Given the description of an element on the screen output the (x, y) to click on. 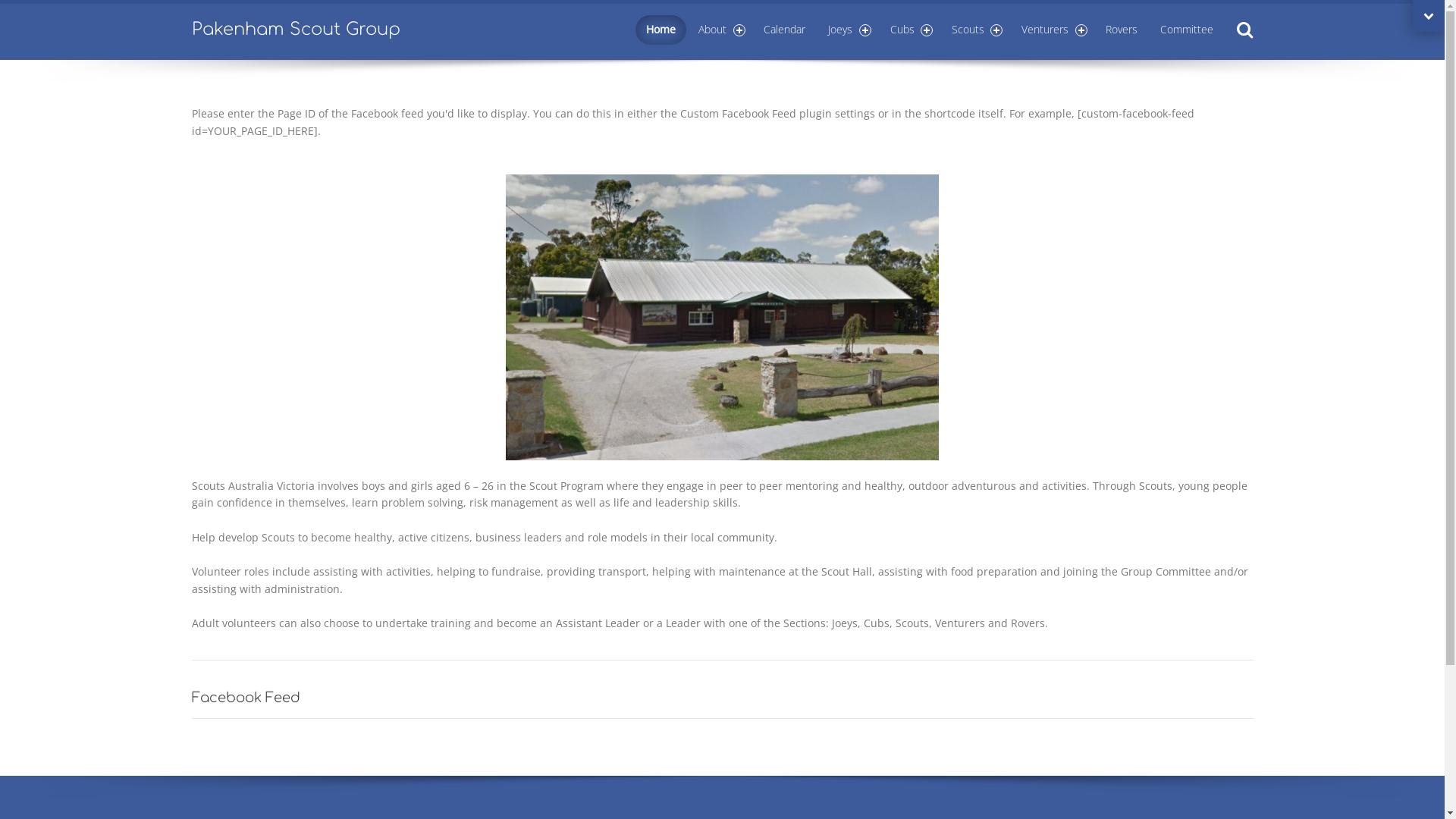
Cubs Element type: text (909, 29)
Venturers Element type: text (1051, 29)
About Element type: text (719, 29)
Search Element type: text (1244, 29)
Scouts Element type: text (975, 29)
Home Element type: text (660, 29)
Committee Element type: text (1186, 29)
Calendar Element type: text (784, 29)
Rovers Element type: text (1121, 29)
Open extra topbar Element type: text (1428, 15)
Joeys Element type: text (847, 29)
